Given the description of an element on the screen output the (x, y) to click on. 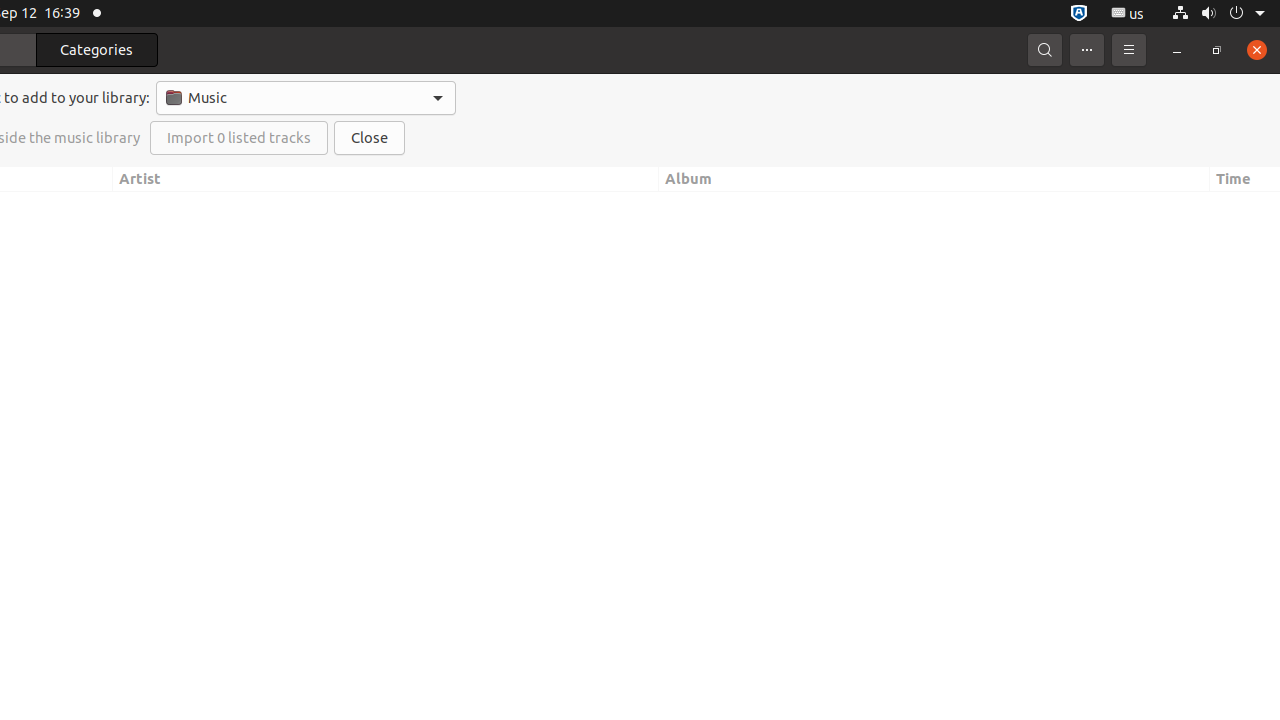
Time Element type: table-column-header (1245, 179)
Close Element type: push-button (369, 138)
Artist Element type: table-column-header (386, 179)
Import 0 listed tracks Element type: push-button (239, 138)
Album Element type: table-column-header (934, 179)
